Given the description of an element on the screen output the (x, y) to click on. 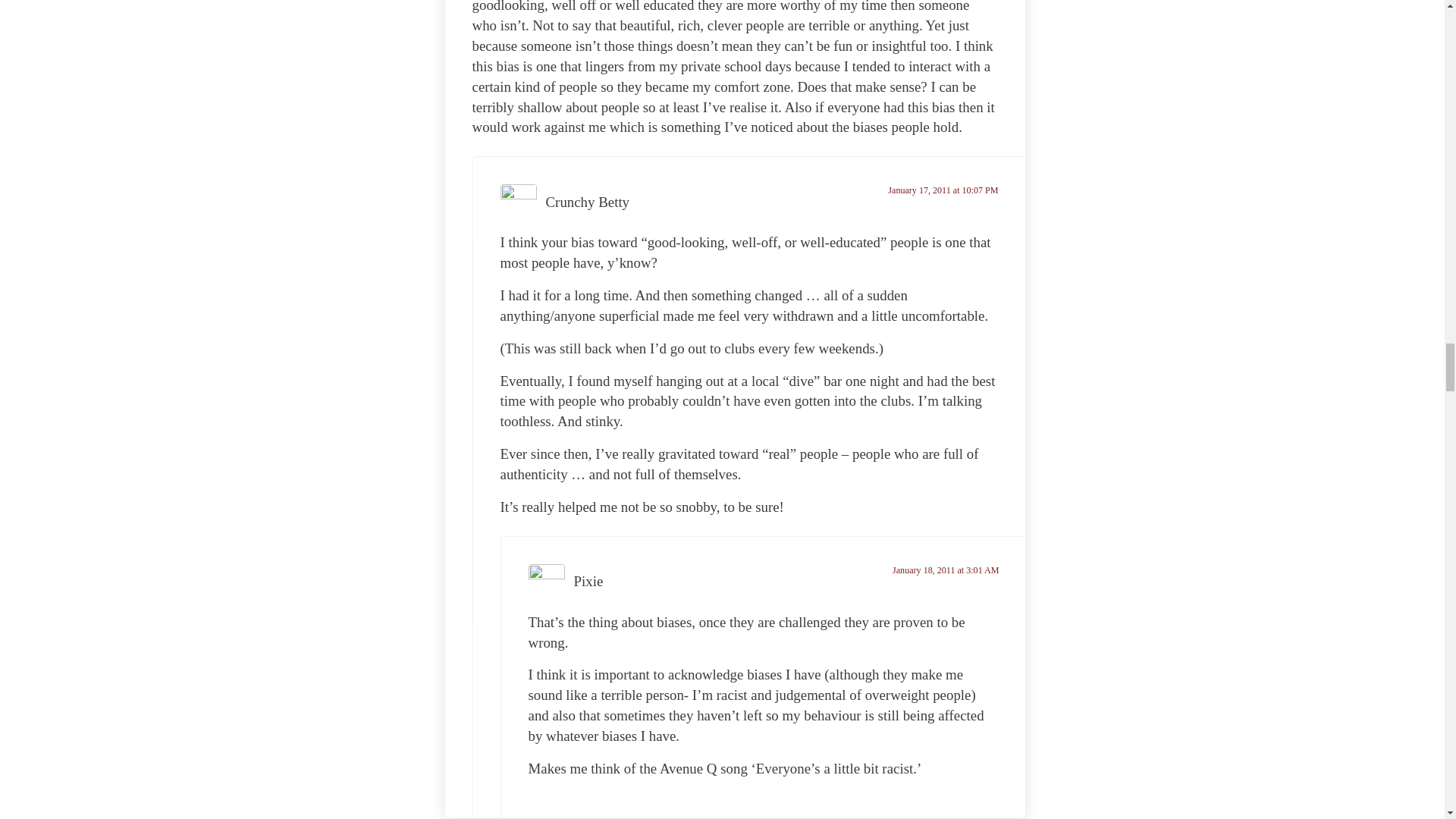
January 17, 2011 at 10:07 PM (942, 190)
January 18, 2011 at 3:01 AM (945, 570)
